Given the description of an element on the screen output the (x, y) to click on. 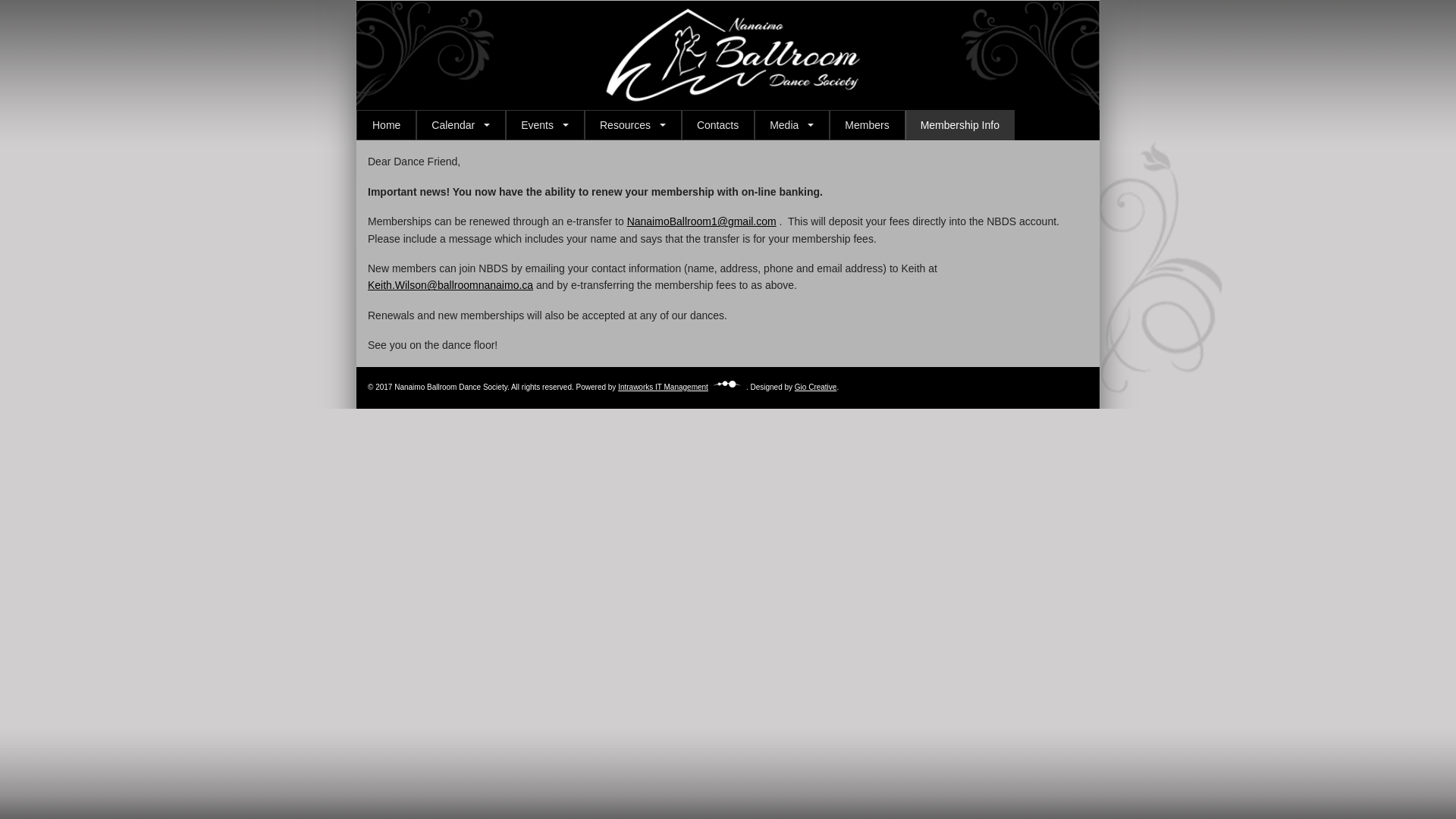
Members Element type: text (866, 124)
Media Element type: text (791, 124)
Resources Element type: text (632, 124)
Membership Info Element type: text (959, 124)
NanaimoBallroom1@gmail.com Element type: text (701, 221)
Home Element type: text (386, 124)
Events Element type: text (544, 124)
Contacts Element type: text (717, 124)
Calendar Element type: text (460, 124)
Keith.Wilson@ballroomnanaimo.ca Element type: text (450, 285)
Gio Creative Element type: text (815, 386)
Nanaimo Ballroom and Dance Society Element type: hover (743, 104)
Nanaimo Ballroom Dance Society Element type: text (562, 46)
Intraworks IT Management Element type: text (682, 386)
